Given the description of an element on the screen output the (x, y) to click on. 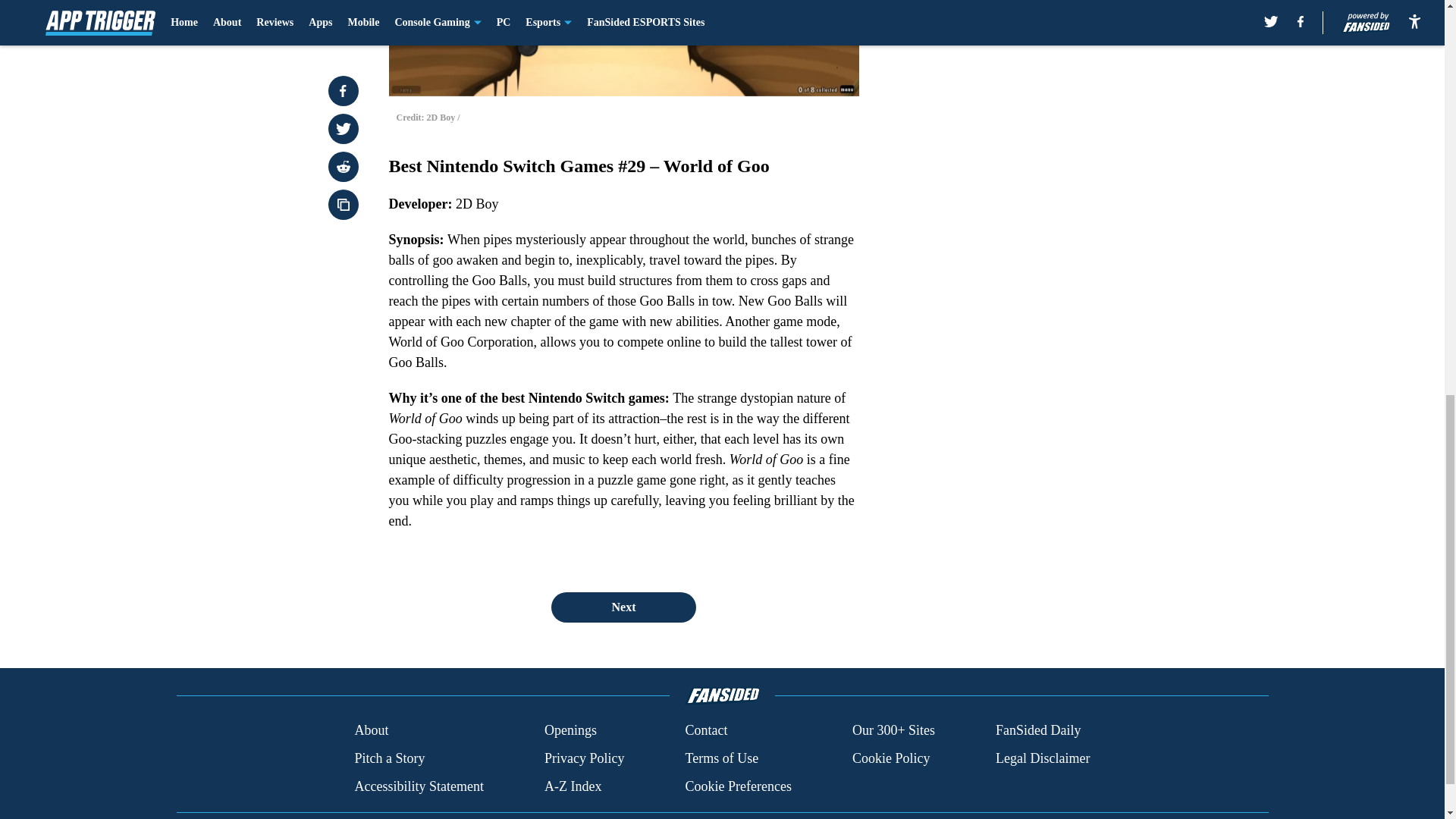
Openings (570, 730)
About (370, 730)
Contact (705, 730)
nintendo switch (623, 48)
Next (622, 607)
Privacy Policy (584, 758)
FanSided Daily (1038, 730)
Pitch a Story (389, 758)
Terms of Use (721, 758)
